Given the description of an element on the screen output the (x, y) to click on. 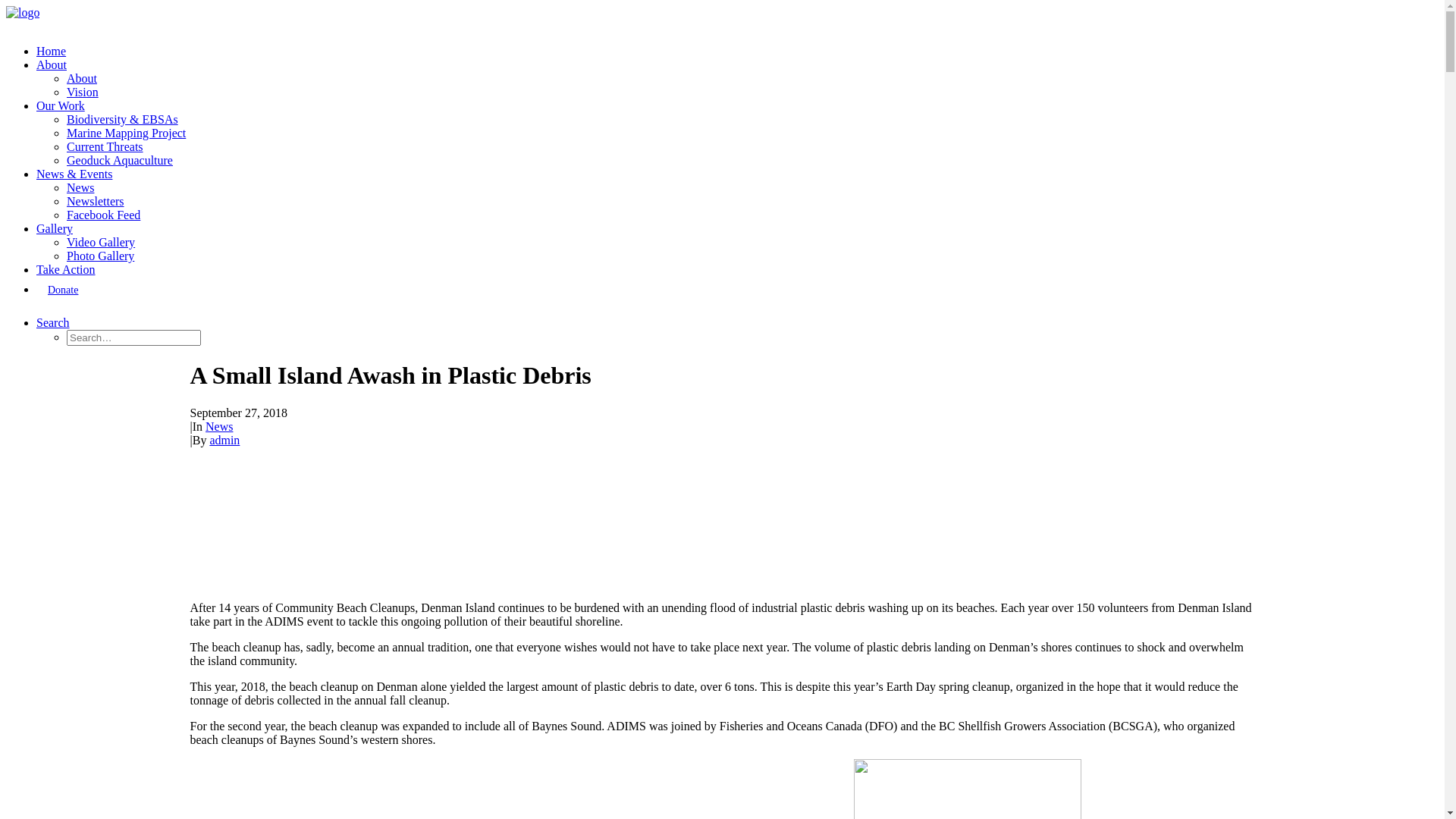
Geoduck Aquaculture Element type: text (119, 159)
Marine Mapping Project Element type: text (125, 132)
Facebook Feed Element type: text (103, 214)
About Element type: text (81, 78)
About Element type: text (51, 64)
Our Work Element type: text (60, 105)
News & Events Element type: text (74, 173)
Vision Element type: text (82, 91)
Current Threats Element type: text (104, 146)
Newsletters Element type: text (95, 200)
News Element type: text (218, 426)
Home Element type: text (50, 50)
Donate Element type: text (737, 290)
Search Element type: text (52, 322)
Photo Gallery Element type: text (100, 255)
Take Action Element type: text (65, 269)
admin Element type: text (224, 439)
Video Gallery Element type: text (100, 241)
News Element type: text (80, 187)
Gallery Element type: text (54, 228)
Biodiversity & EBSAs Element type: text (122, 118)
